Given the description of an element on the screen output the (x, y) to click on. 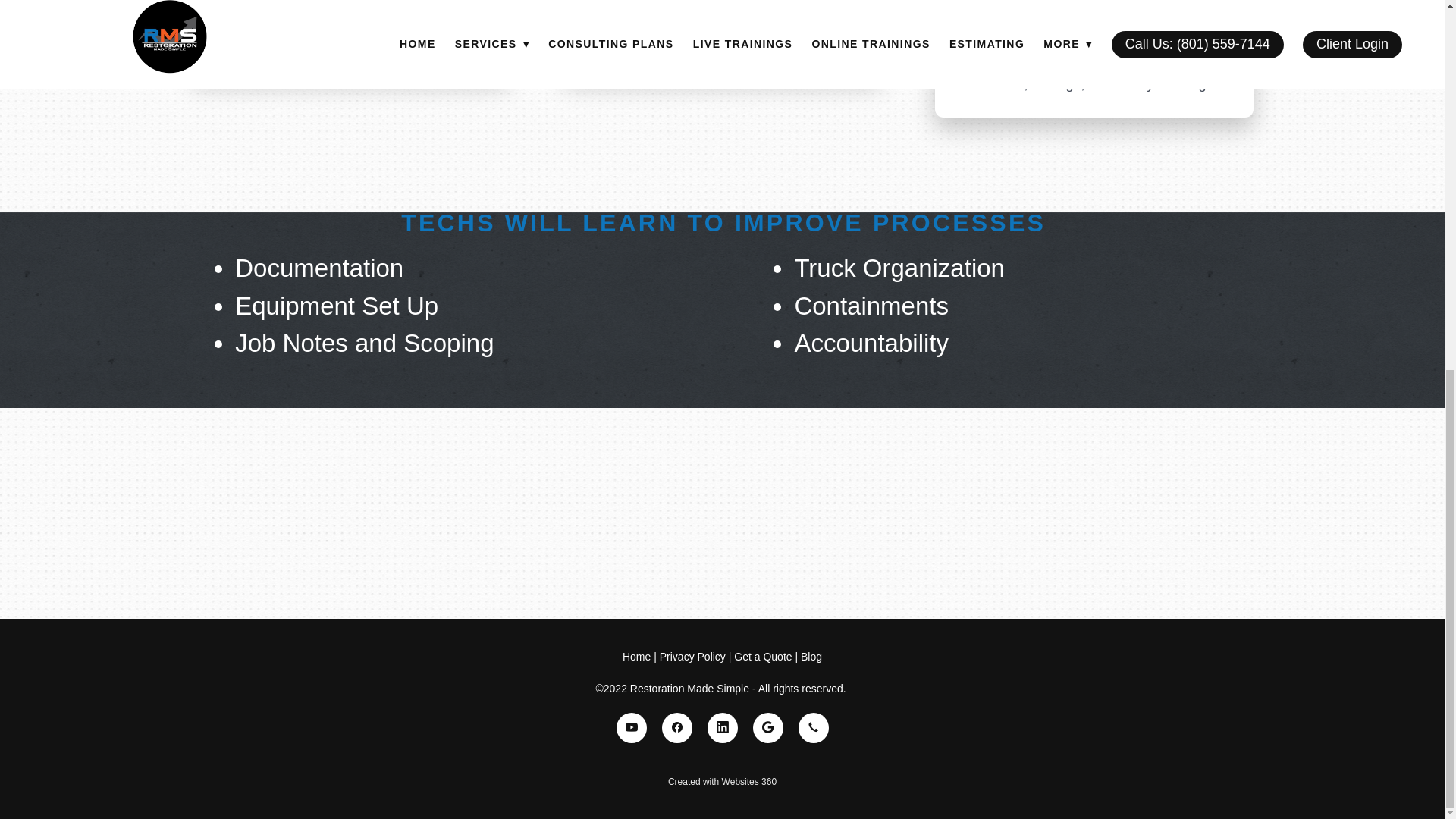
Created with Websites 360 (722, 781)
Home (638, 656)
Get a Quote (762, 656)
Blog (811, 656)
Privacy Policy (692, 656)
